Given the description of an element on the screen output the (x, y) to click on. 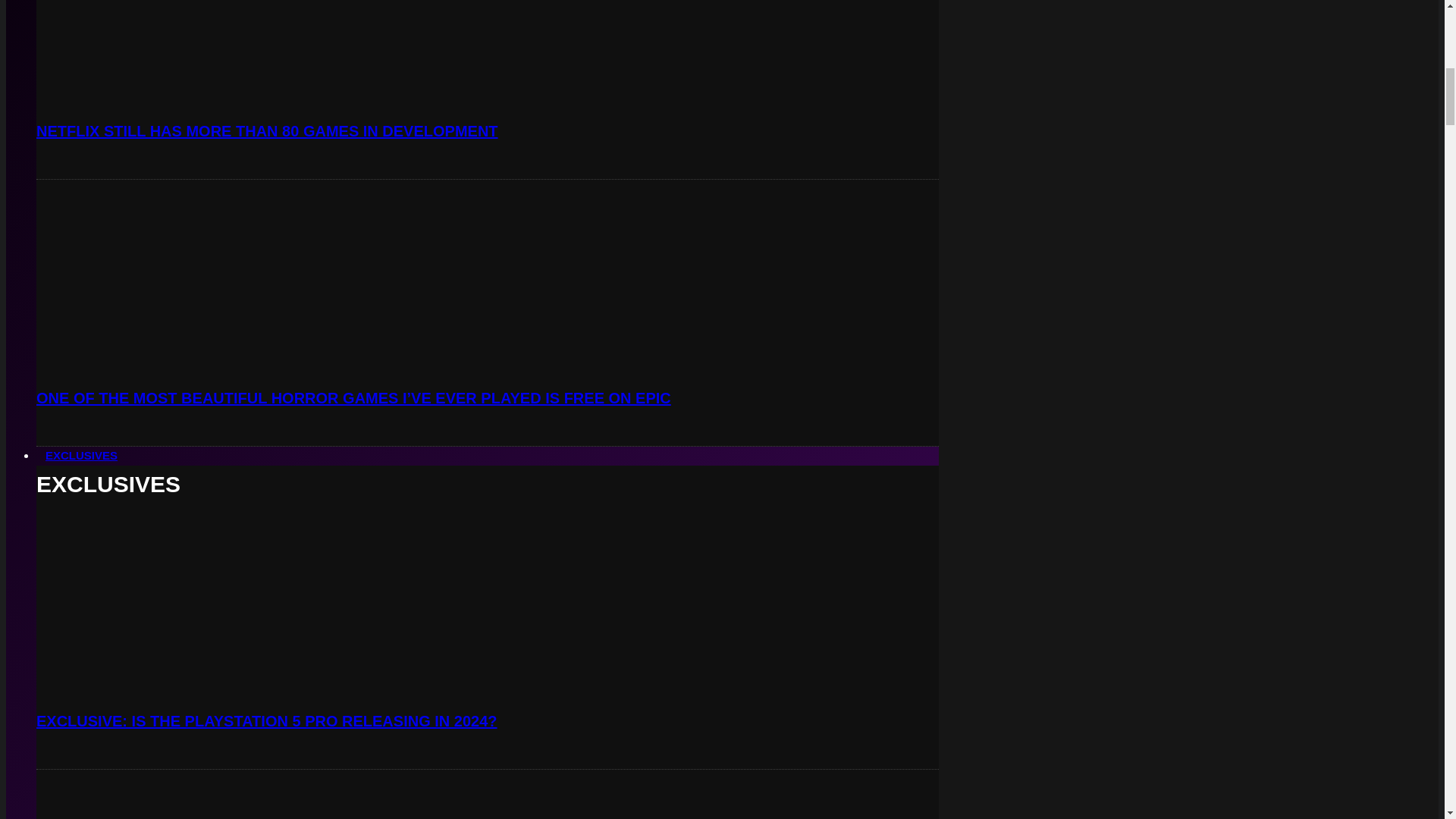
EXCLUSIVE: IS THE PLAYSTATION 5 PRO RELEASING IN 2024? (266, 720)
NETFLIX STILL HAS MORE THAN 80 GAMES IN DEVELOPMENT (266, 130)
EXCLUSIVES (81, 454)
